Given the description of an element on the screen output the (x, y) to click on. 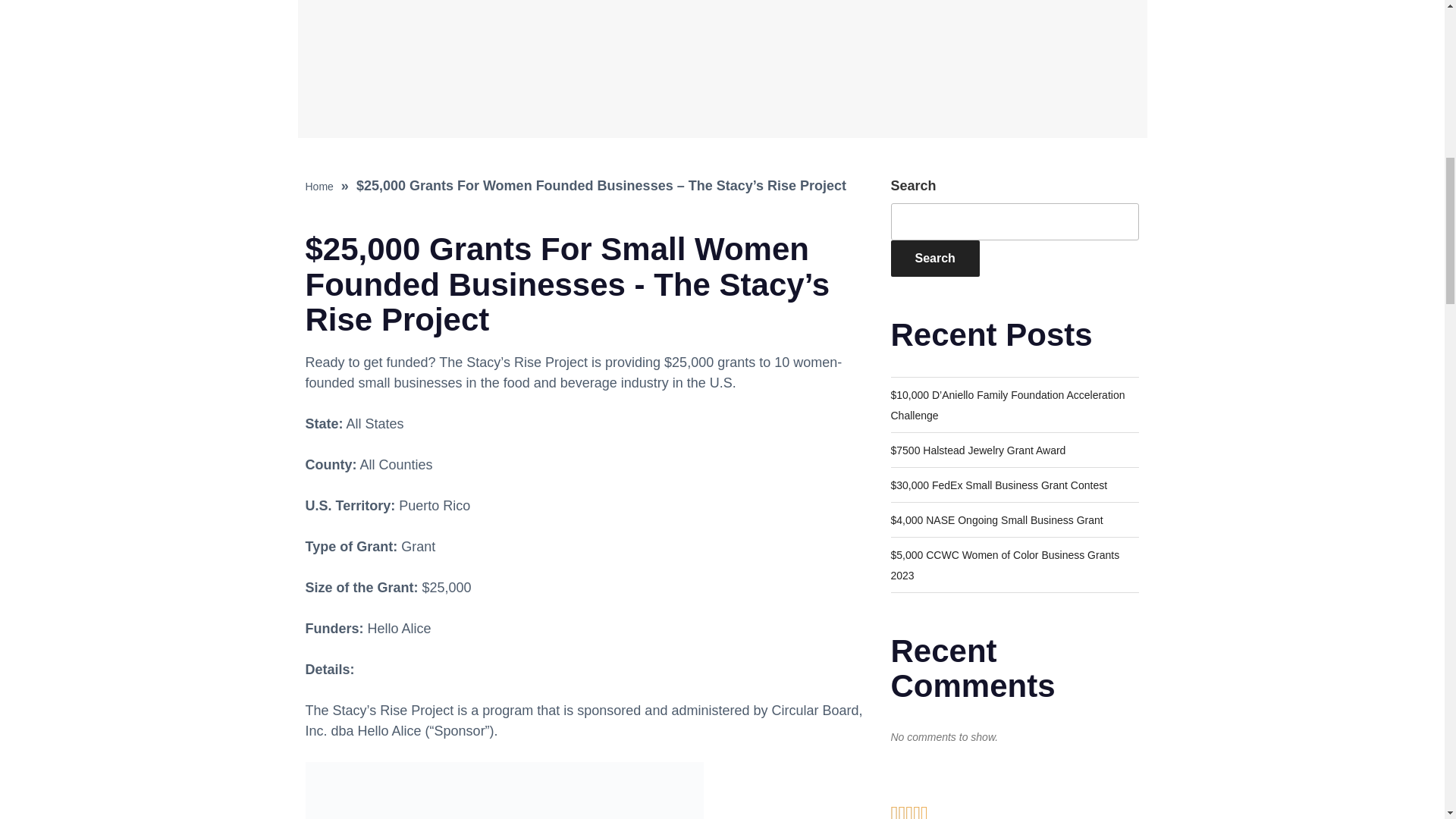
Home (318, 186)
Search (933, 258)
